Given the description of an element on the screen output the (x, y) to click on. 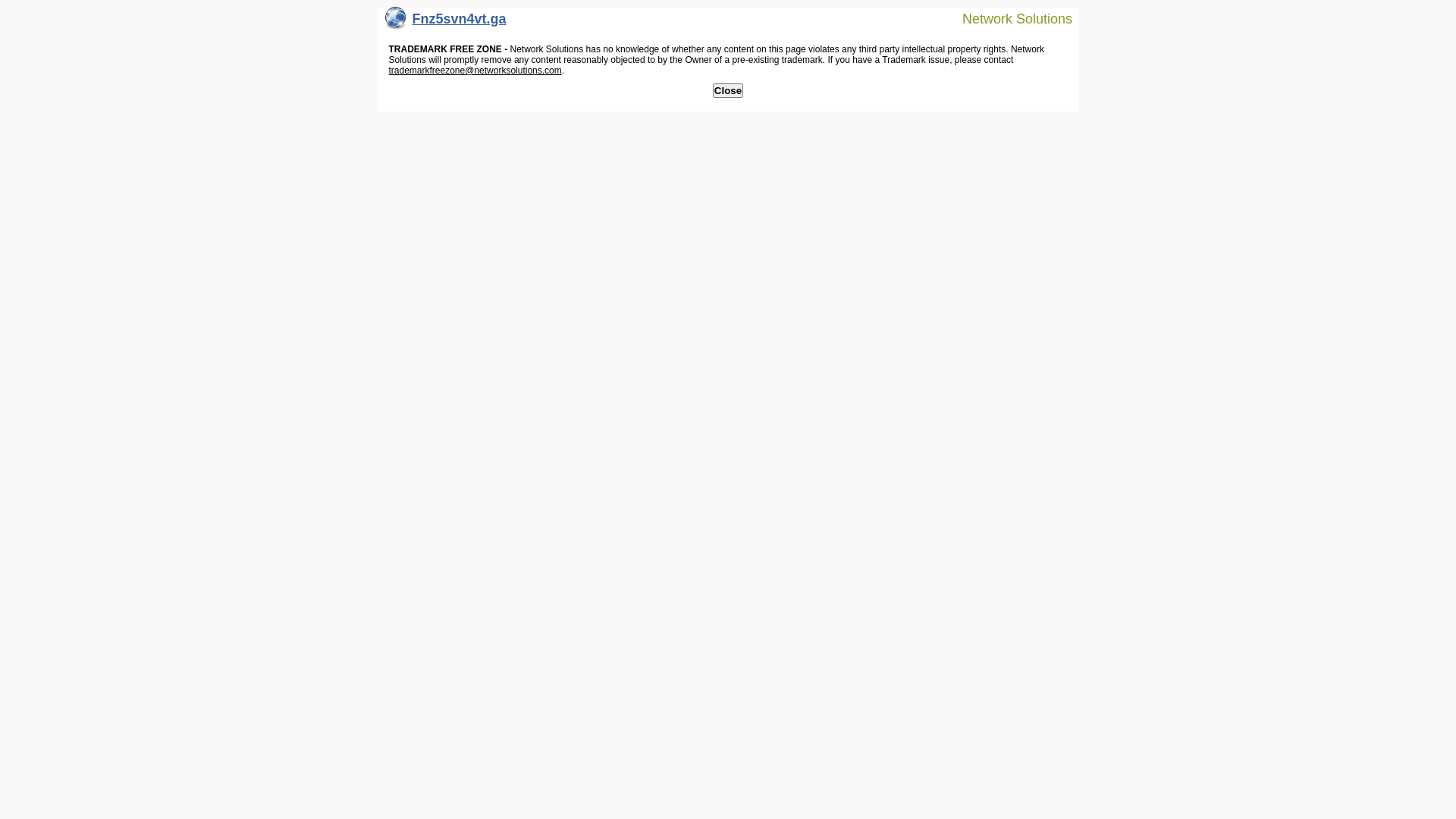
Network Solutions Element type: text (1007, 17)
Close Element type: text (727, 90)
trademarkfreezone@networksolutions.com Element type: text (474, 70)
Fnz5svn4vt.ga Element type: text (445, 21)
